Given the description of an element on the screen output the (x, y) to click on. 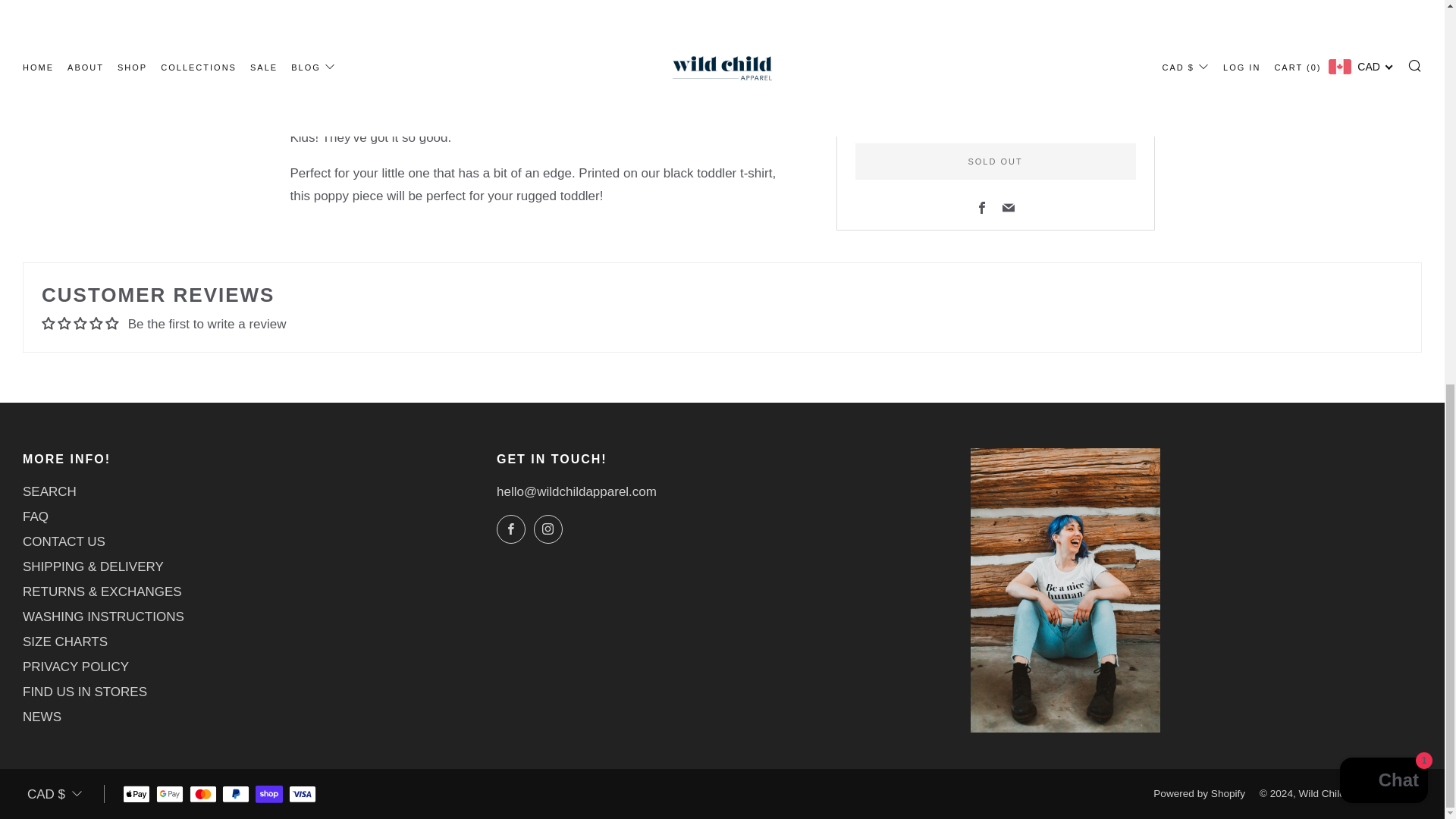
Apple Pay (135, 794)
Visa (301, 794)
Mastercard (202, 794)
Shopify online store chat (1383, 60)
Google Pay (169, 794)
Shop Pay (269, 794)
PayPal (235, 794)
